Given the description of an element on the screen output the (x, y) to click on. 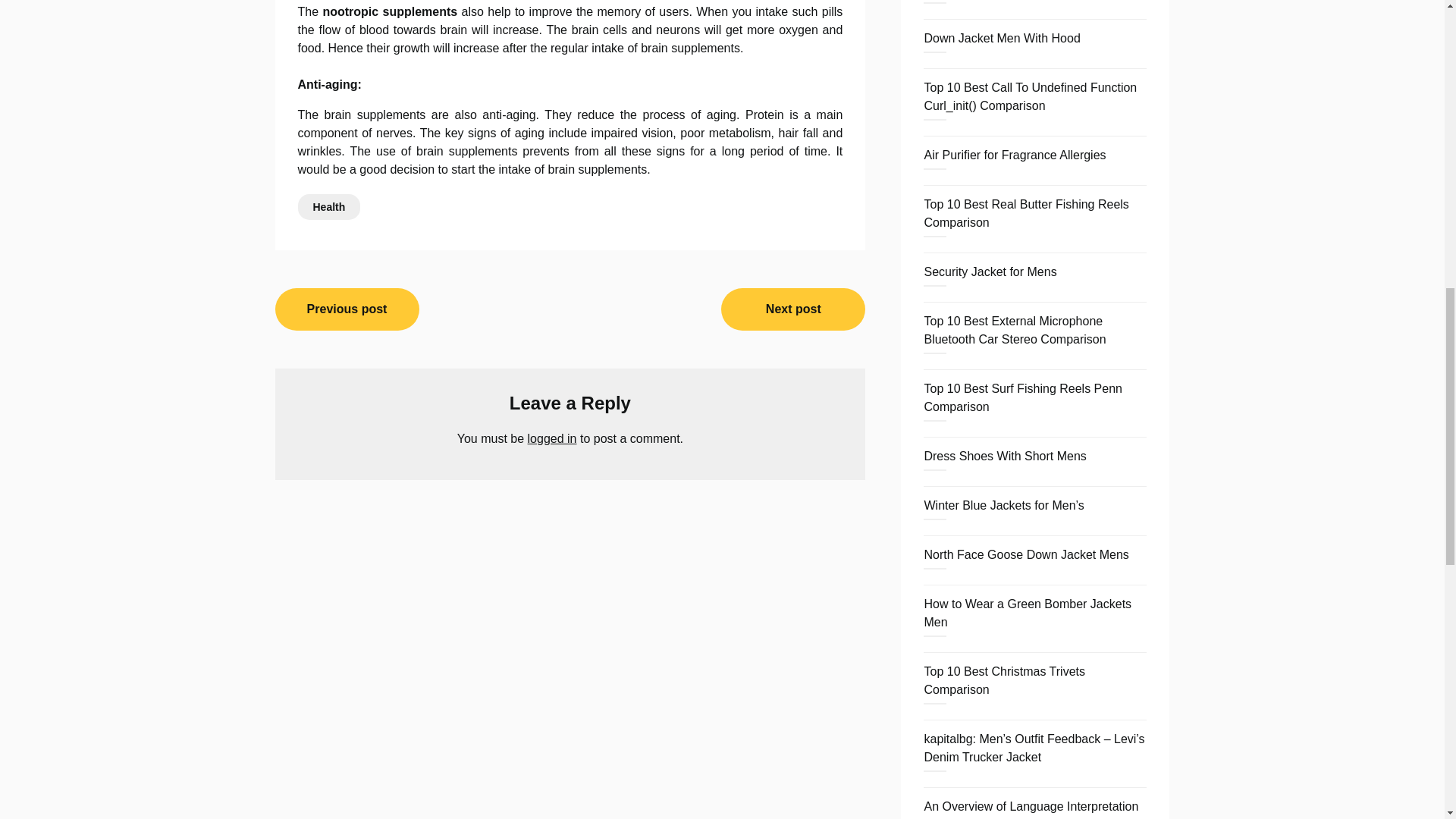
Previous post (347, 309)
Top 10 Best Surf Fishing Reels Penn Comparison (1022, 397)
Air Purifier for Fragrance Allergies (1014, 154)
Dress Shoes With Short Mens (1004, 455)
Health (328, 207)
How to Wear a Green Bomber Jackets Men (1027, 612)
Security Jacket for Mens (990, 271)
Top 10 Best Christmas Trivets Comparison (1003, 680)
Top 10 Best Real Butter Fishing Reels Comparison (1025, 213)
logged in (551, 438)
Next post (792, 309)
Down Jacket Men With Hood (1001, 38)
An Overview of Language Interpretation (1030, 806)
North Face Goose Down Jacket Mens (1025, 554)
